Given the description of an element on the screen output the (x, y) to click on. 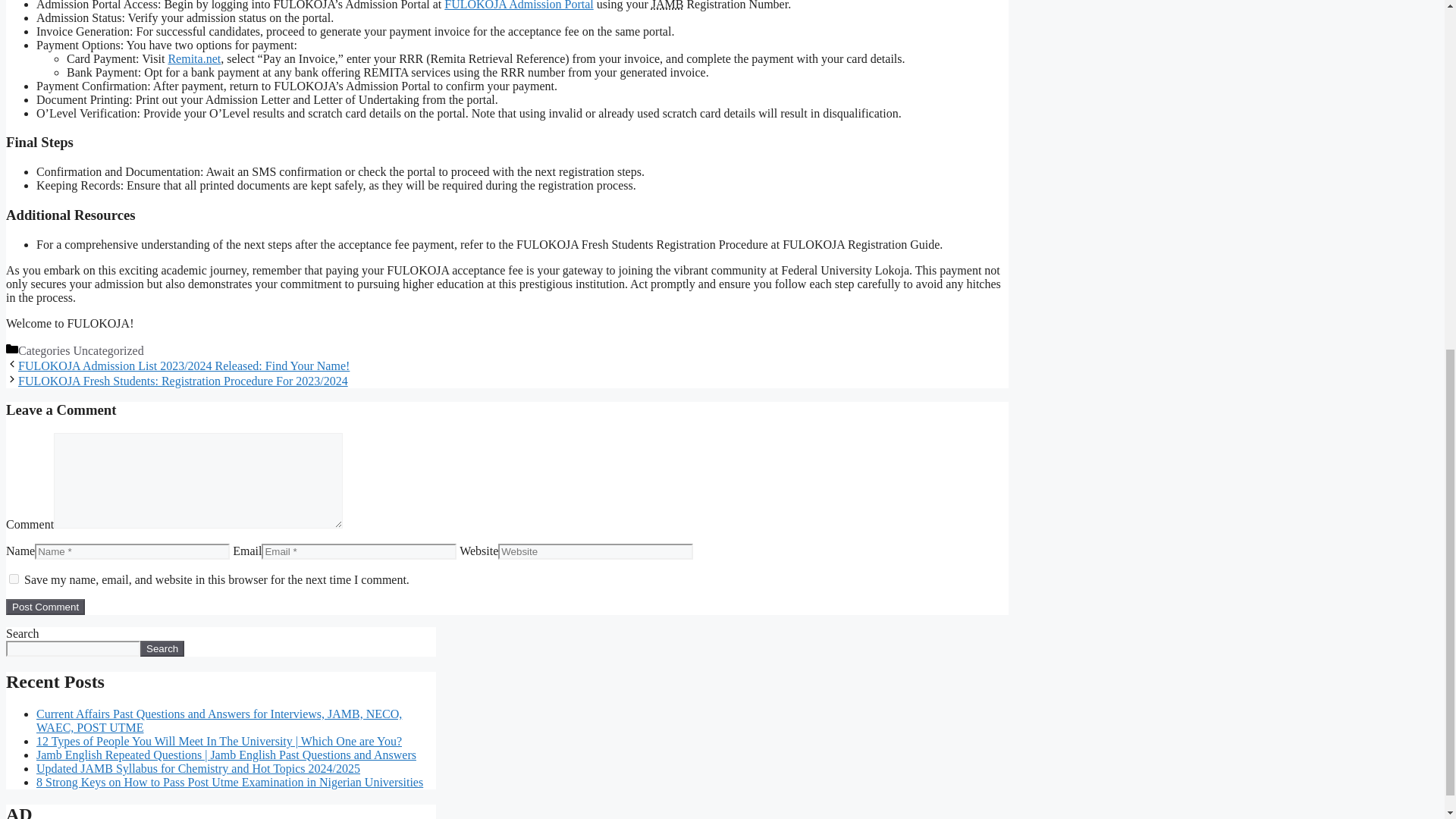
Remita.net (194, 58)
Search (161, 648)
FULOKOJA Admission Portal (518, 5)
yes (13, 578)
Joint Admissions and Matriculation Board (667, 5)
Post Comment (44, 606)
Post Comment (44, 606)
